Given the description of an element on the screen output the (x, y) to click on. 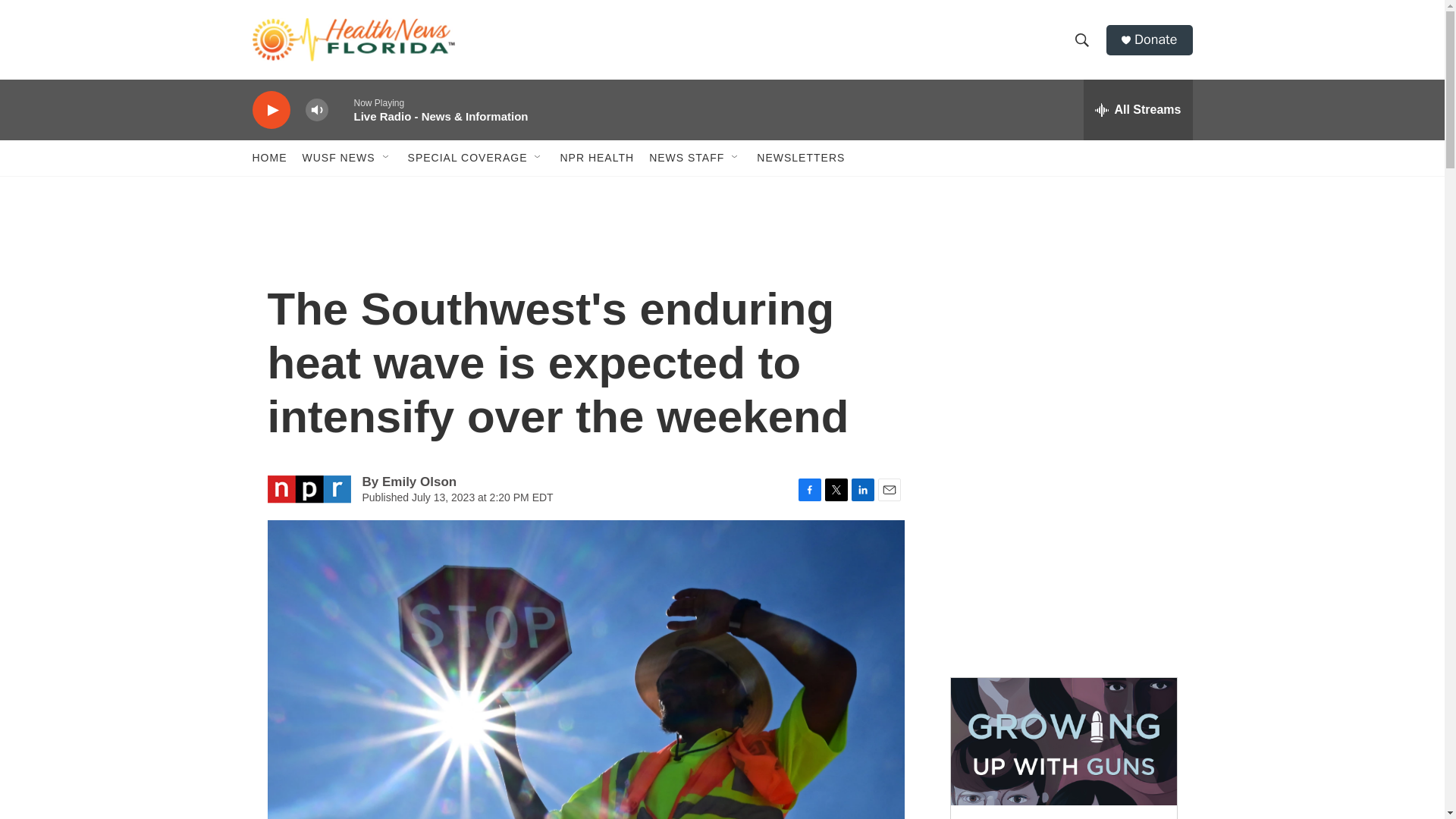
3rd party ad content (1062, 552)
3rd party ad content (1062, 331)
